Given the description of an element on the screen output the (x, y) to click on. 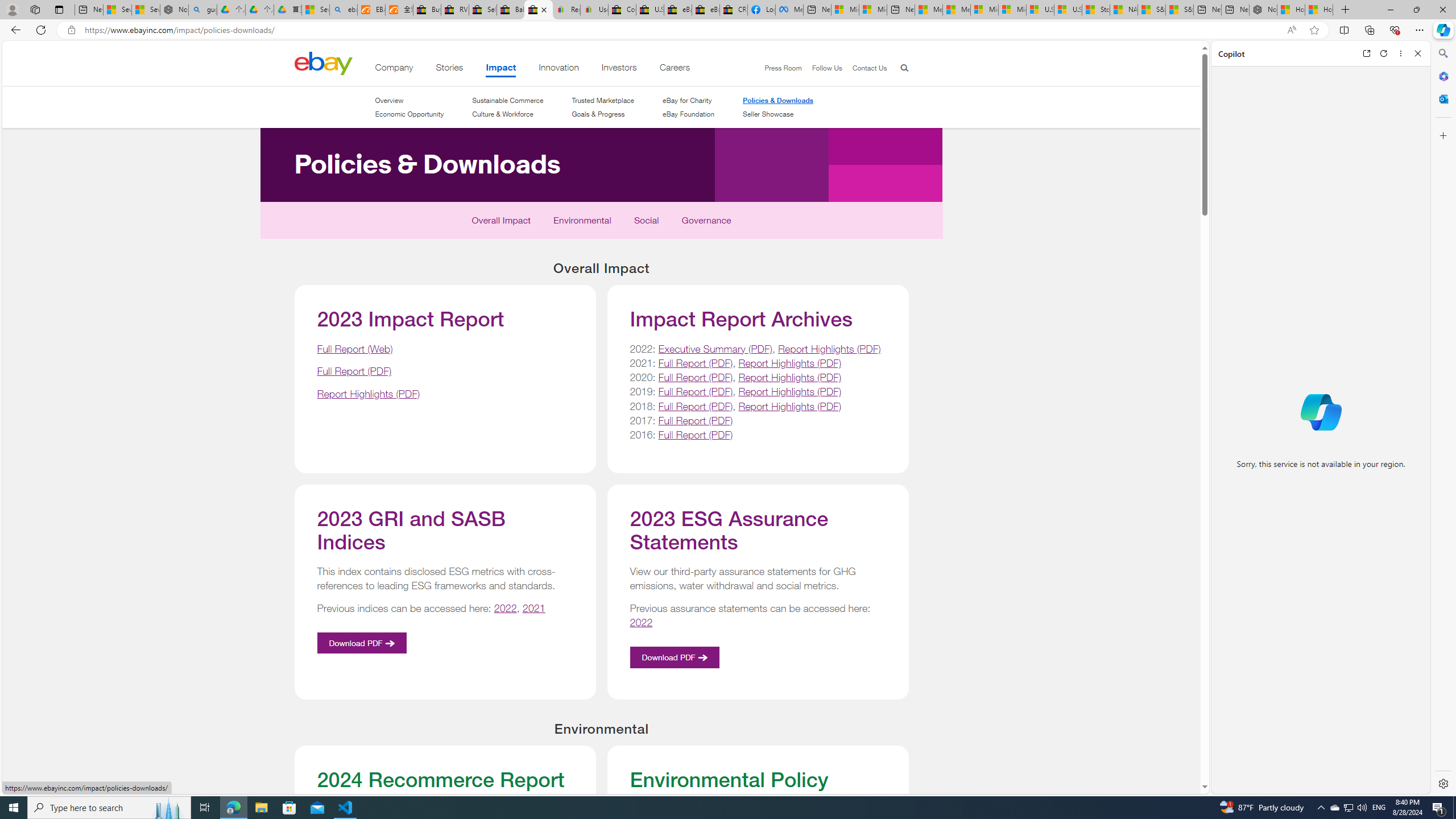
Report Highlights (PDF) (789, 405)
Outlook (1442, 98)
eBay Inc. Reports Third Quarter 2023 Results (706, 9)
Social (646, 222)
